Given the description of an element on the screen output the (x, y) to click on. 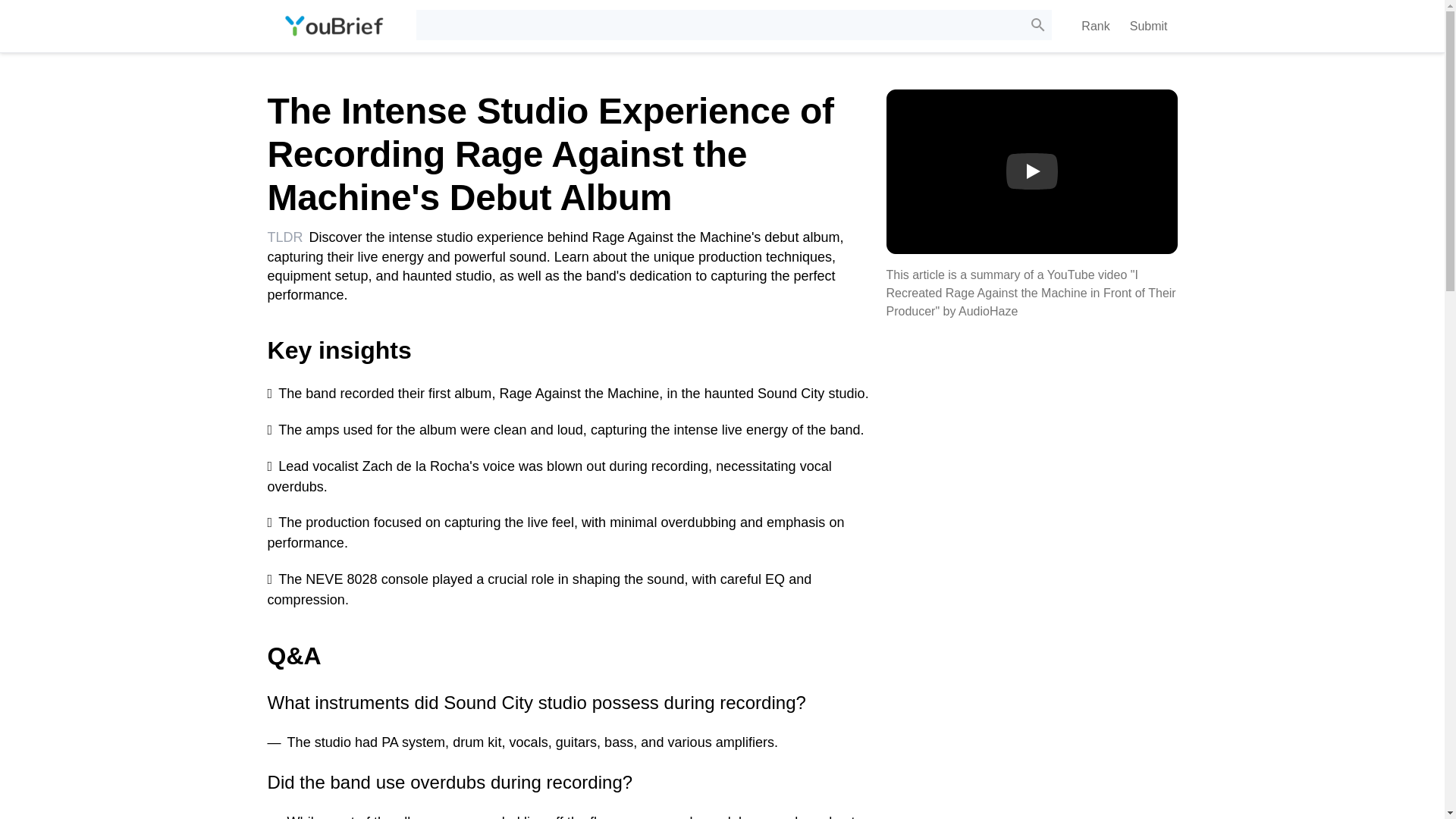
Submit (1148, 25)
Rank (1095, 25)
